Given the description of an element on the screen output the (x, y) to click on. 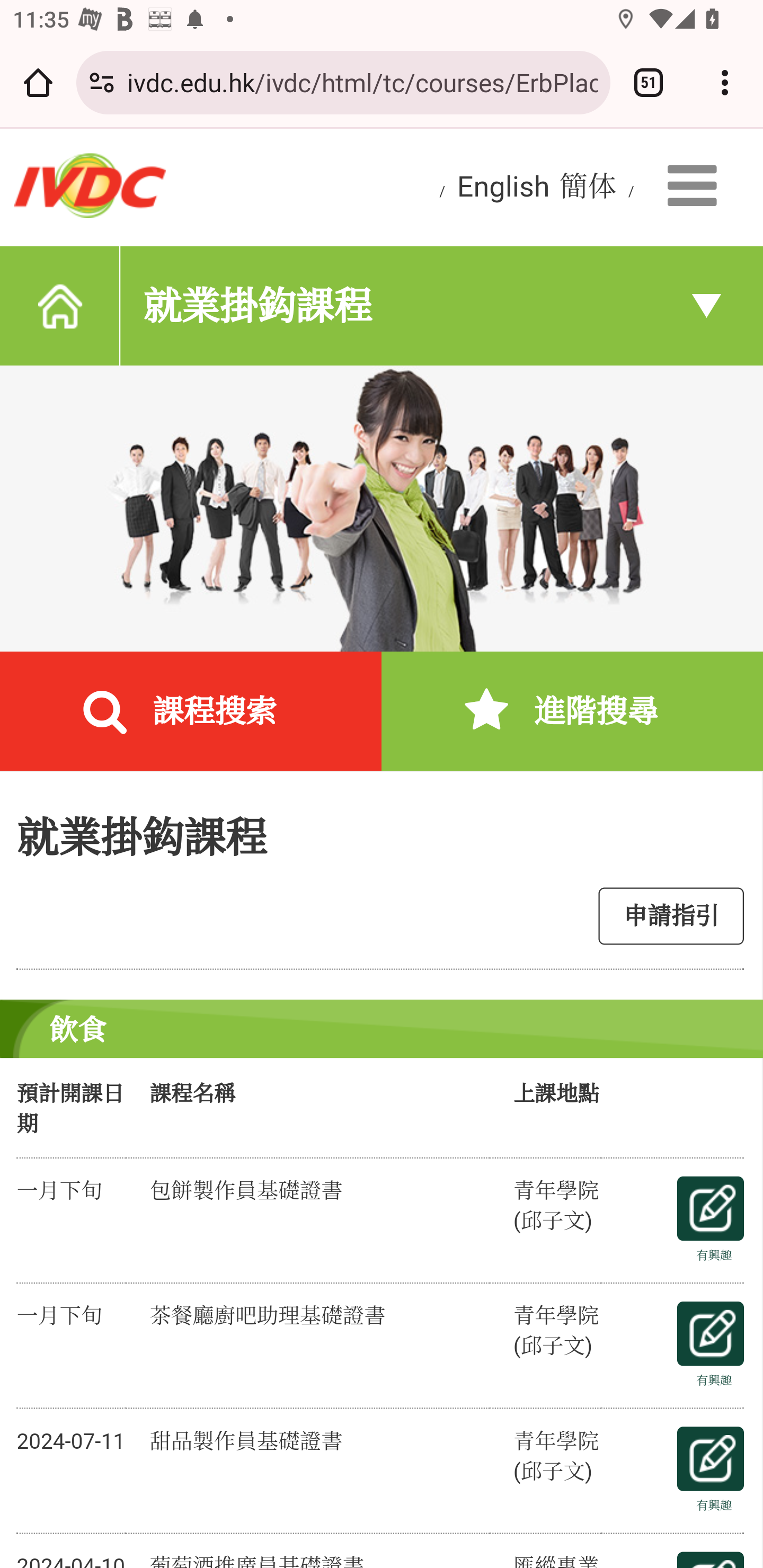
Open the home page (38, 82)
Connection is secure (101, 82)
Switch or close tabs (648, 82)
Customize and control Google Chrome (724, 82)
匯縱專業發展中心 (89, 185)
 (697, 186)
English (503, 185)
簡体 (588, 185)
返回  (59, 305)
 進階搜尋  進階搜尋 (572, 713)
